Given the description of an element on the screen output the (x, y) to click on. 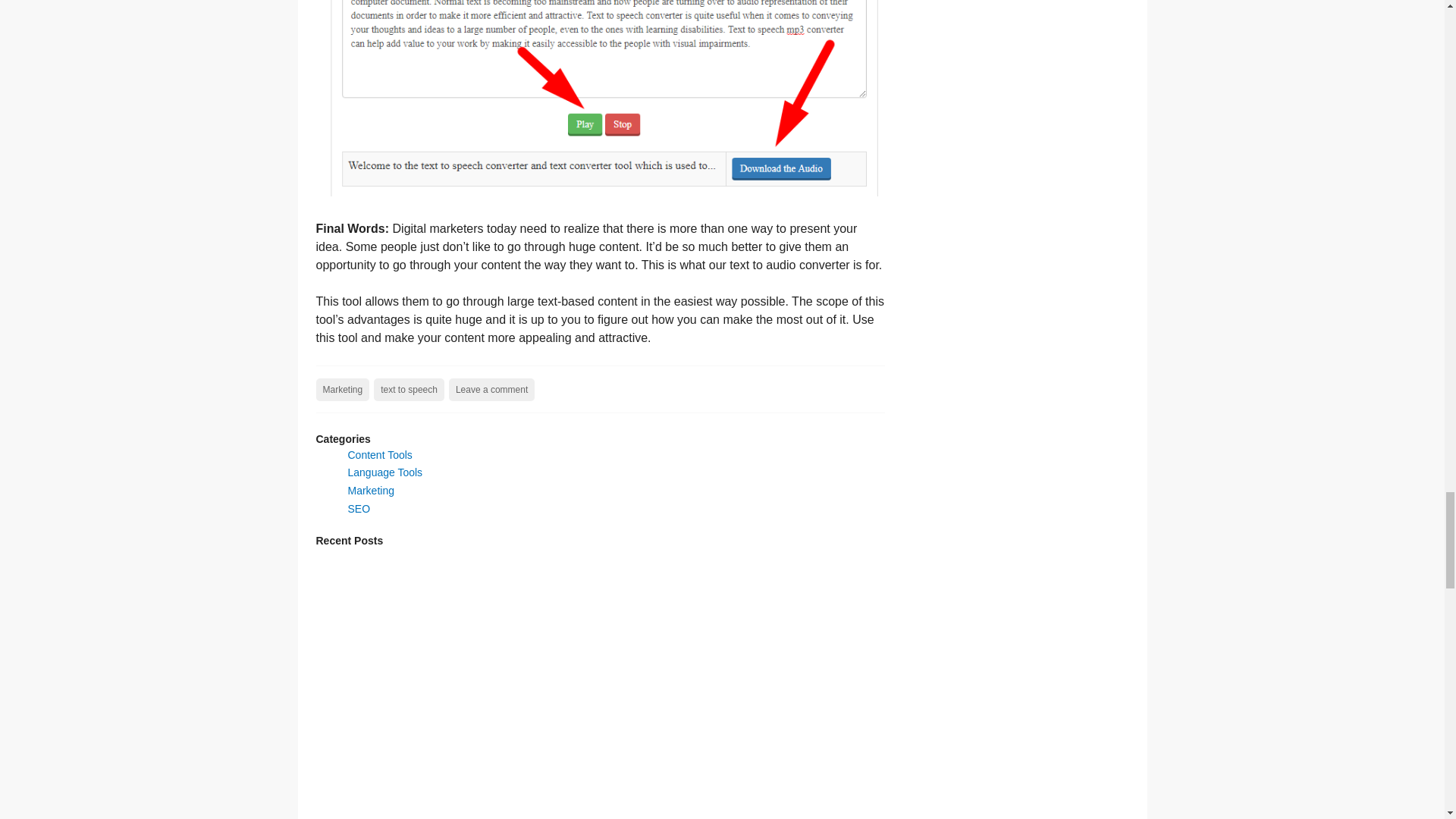
Marketing (342, 389)
text to speech (409, 389)
Leave a comment (491, 389)
